Given the description of an element on the screen output the (x, y) to click on. 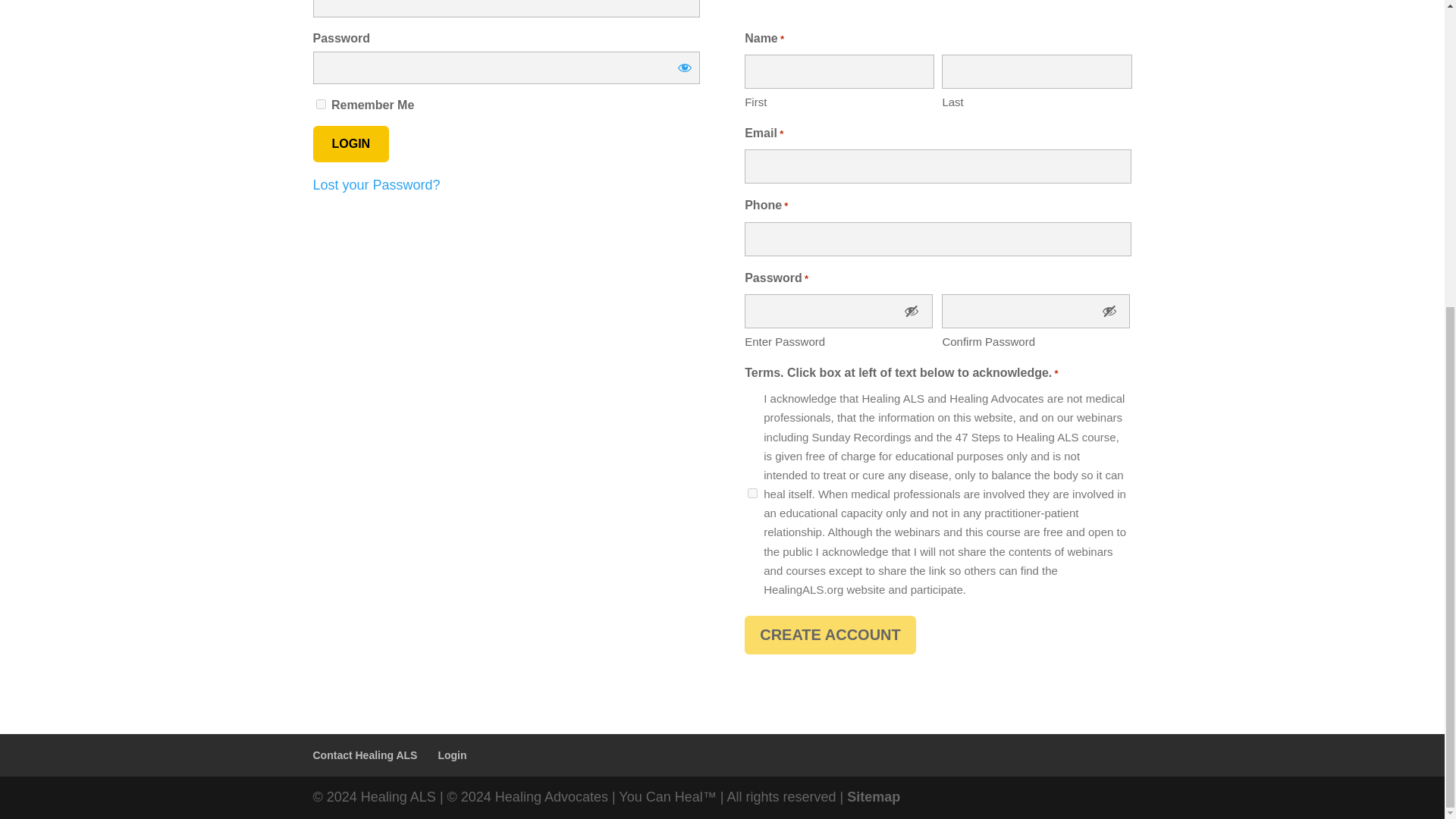
Login (451, 755)
forever (319, 103)
Login (350, 144)
Sitemap (873, 796)
Lost your Password? (376, 184)
Create Account (829, 634)
Contact Healing ALS (364, 755)
Create Account (829, 634)
Login (350, 144)
